Given the description of an element on the screen output the (x, y) to click on. 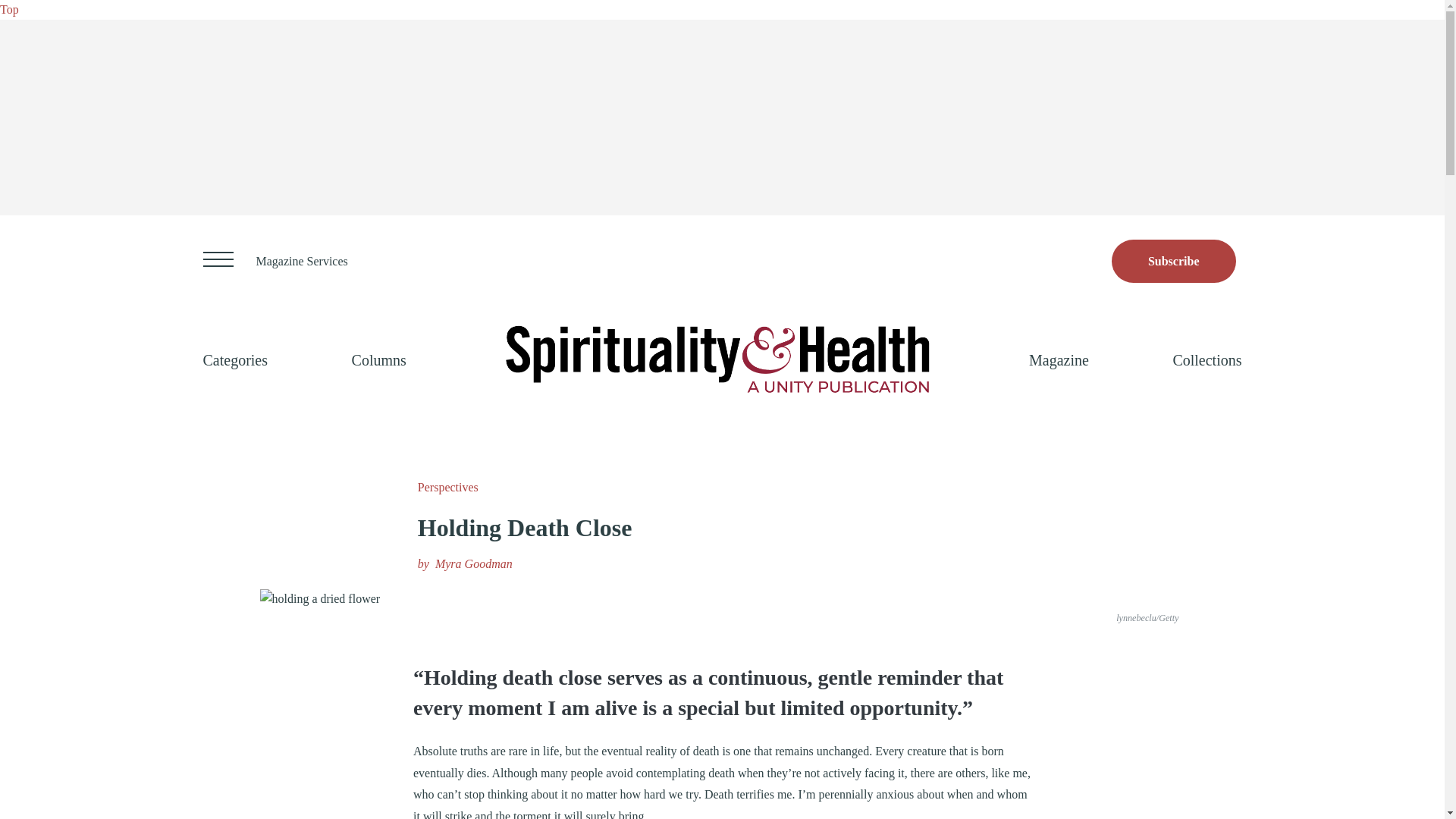
Top (9, 9)
Collections (1206, 359)
Columns (379, 359)
Subscribe (1174, 261)
Categories (235, 359)
Magazine (1059, 359)
Magazine Services (301, 260)
Opens to Store site (1174, 261)
